Given the description of an element on the screen output the (x, y) to click on. 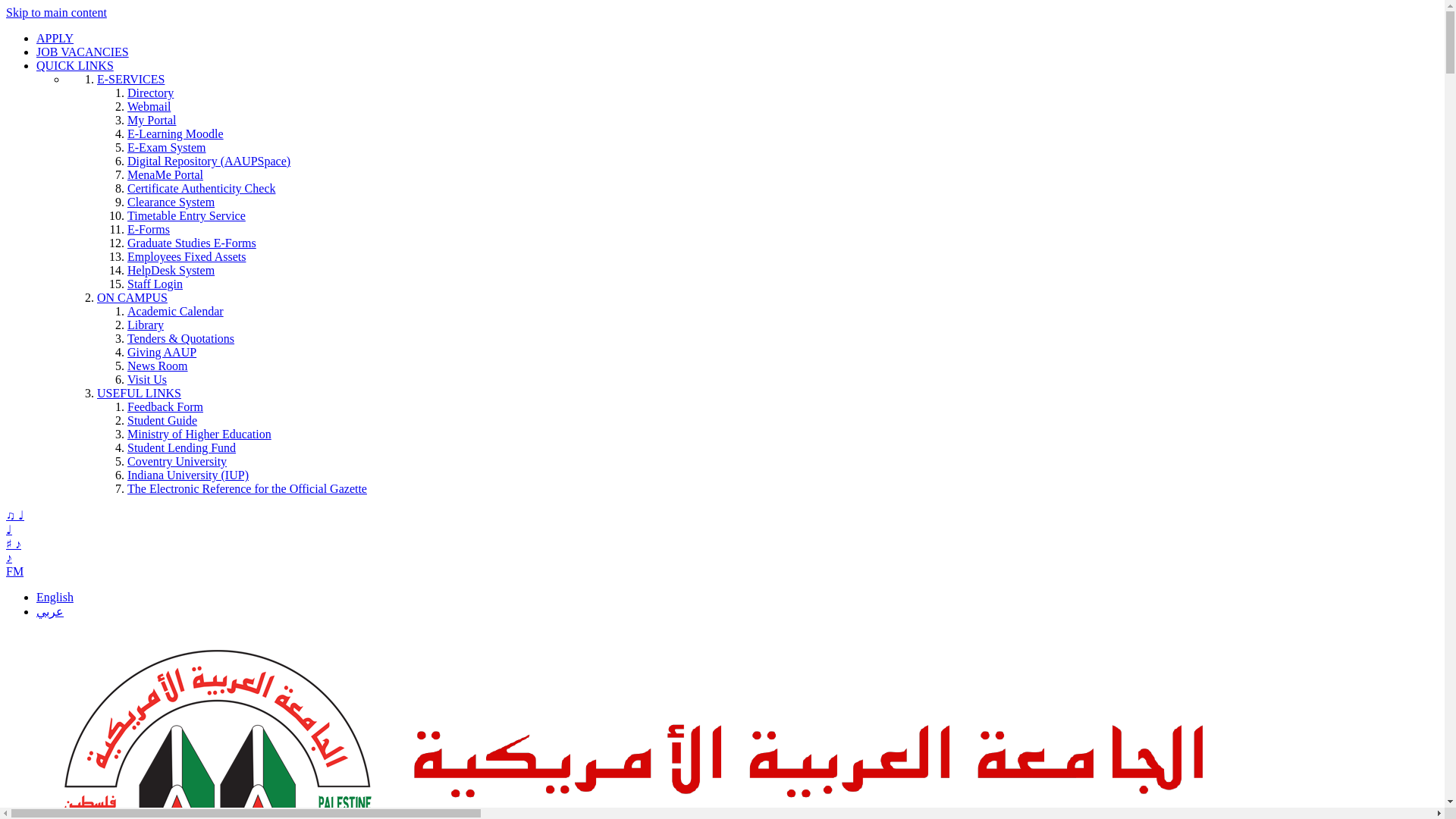
USEFUL LINKS (138, 392)
English (55, 596)
E-Exam System (167, 146)
Coventry University (177, 461)
Giving AAUP (162, 351)
Timetable Entry Service (187, 215)
JOB VACANCIES (82, 51)
Certificate Authenticity Check (202, 187)
Webmail (149, 106)
News Room (157, 365)
Feedback Form (165, 406)
MenaMe Portal (165, 174)
Student Guide (162, 420)
QUICK LINKS (74, 65)
My Portal (152, 119)
